Given the description of an element on the screen output the (x, y) to click on. 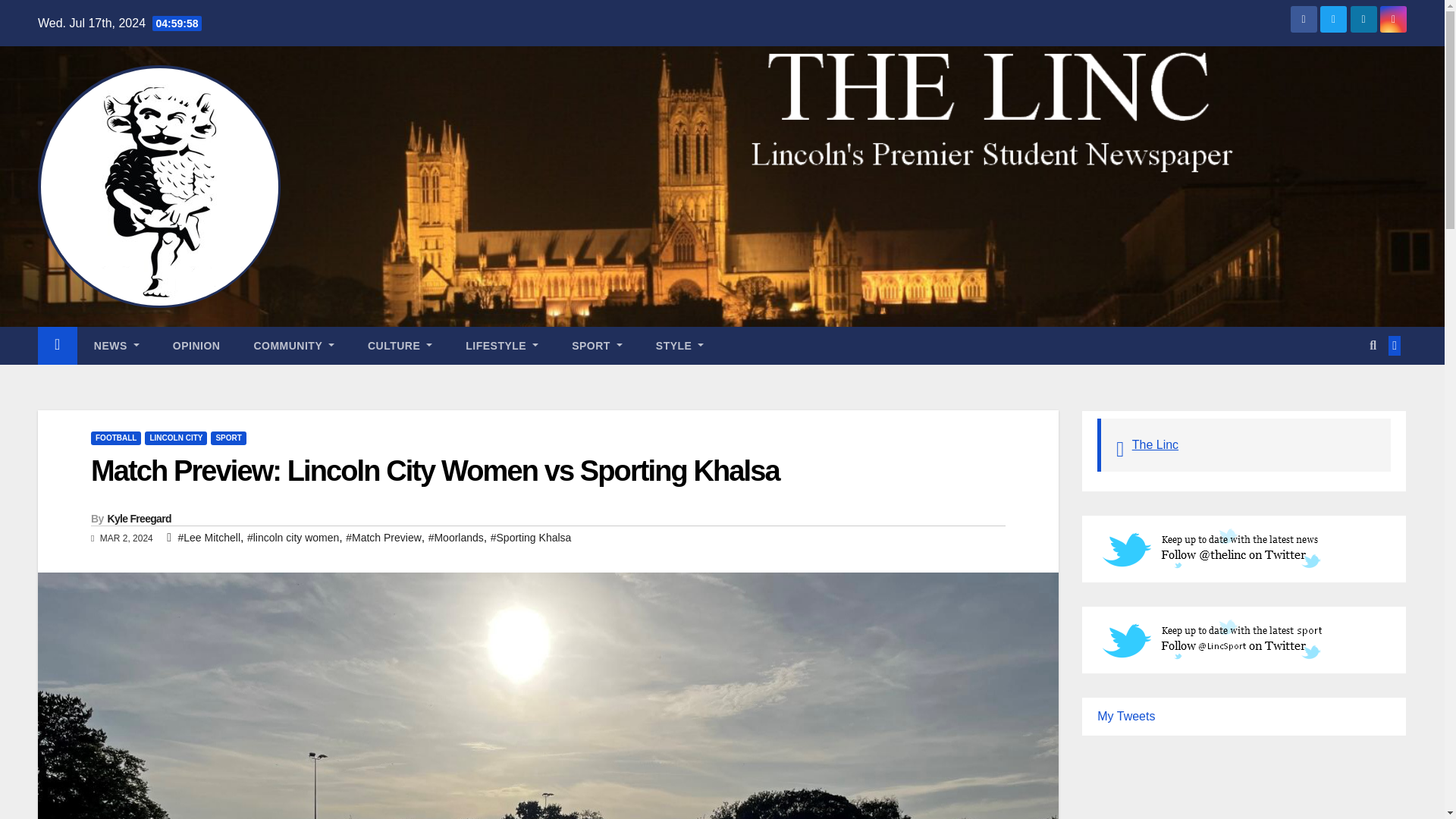
SPORT (596, 345)
Culture (399, 345)
Opinion (196, 345)
Community (292, 345)
OPINION (196, 345)
CULTURE (399, 345)
LIFESTYLE (501, 345)
NEWS (116, 345)
COMMUNITY (292, 345)
News (116, 345)
